Given the description of an element on the screen output the (x, y) to click on. 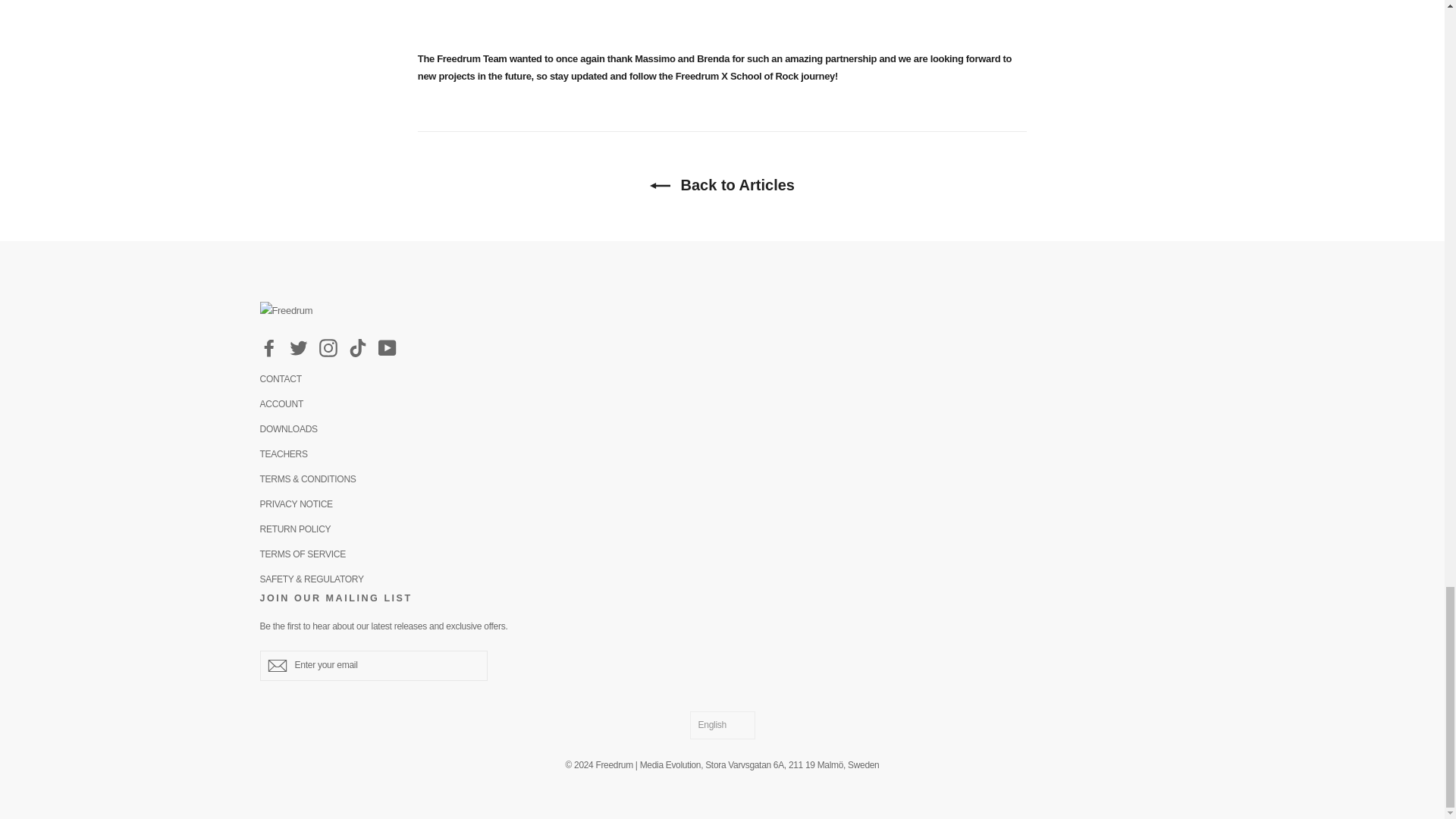
Back to Articles (721, 184)
Freedrum on TikTok (357, 348)
DOWNLOADS (722, 429)
RETURN POLICY (722, 529)
TikTok (357, 348)
Freedrum on Facebook (268, 348)
TERMS OF SERVICE (722, 554)
CONTACT (722, 379)
YouTube (386, 348)
Freedrum on Instagram (327, 348)
